Given the description of an element on the screen output the (x, y) to click on. 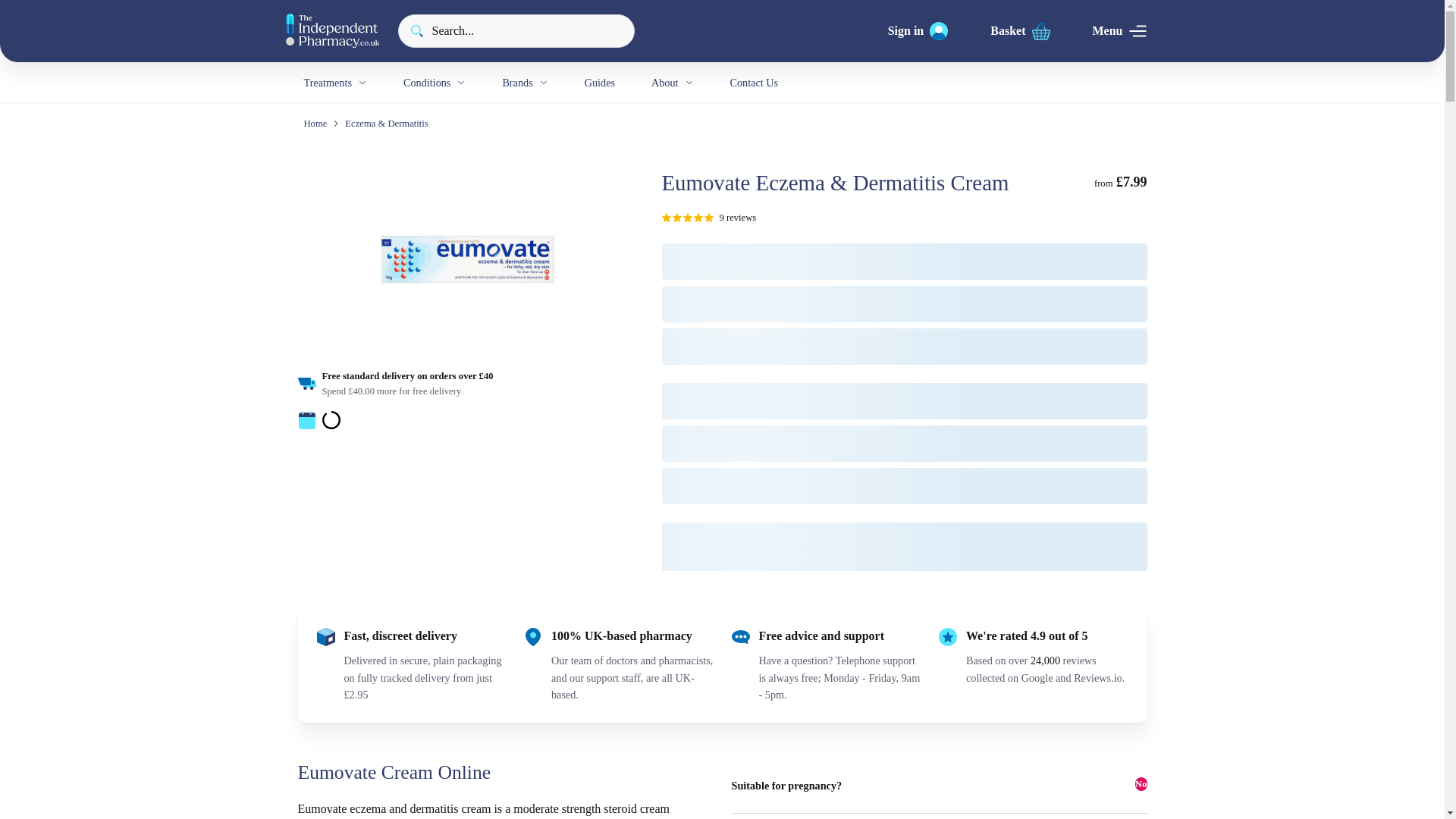
Basket (1019, 30)
Sign in (918, 30)
Open your basket (1019, 30)
Your Independent Pharmacy account (918, 30)
Treatments (334, 83)
Menu (1119, 30)
Open the main menu (1119, 30)
The Independent Pharmacy homepage (331, 30)
